Given the description of an element on the screen output the (x, y) to click on. 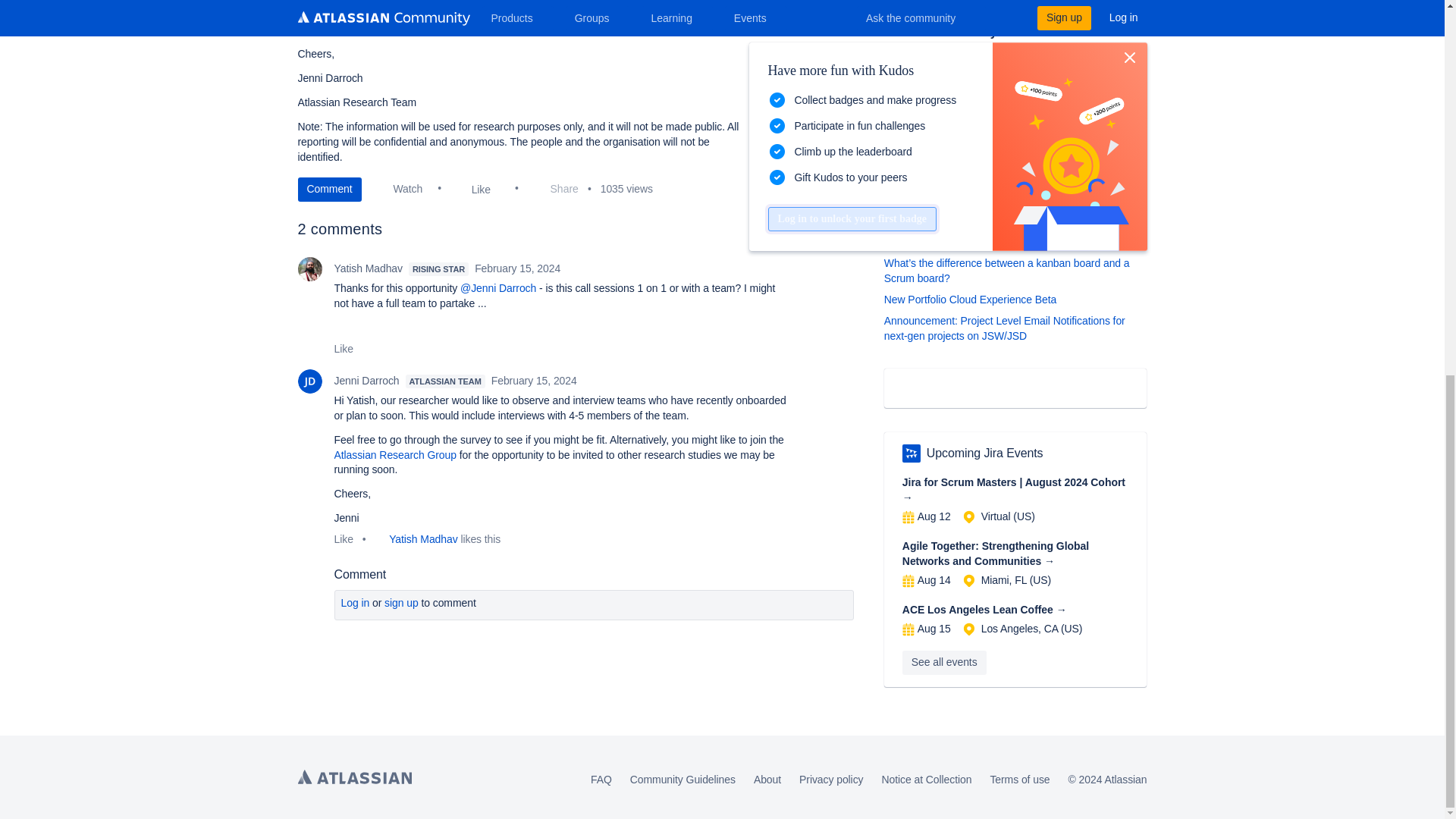
Yatish Madhav (309, 269)
Jenni Darroch (309, 381)
AUG Leaders (911, 453)
